Given the description of an element on the screen output the (x, y) to click on. 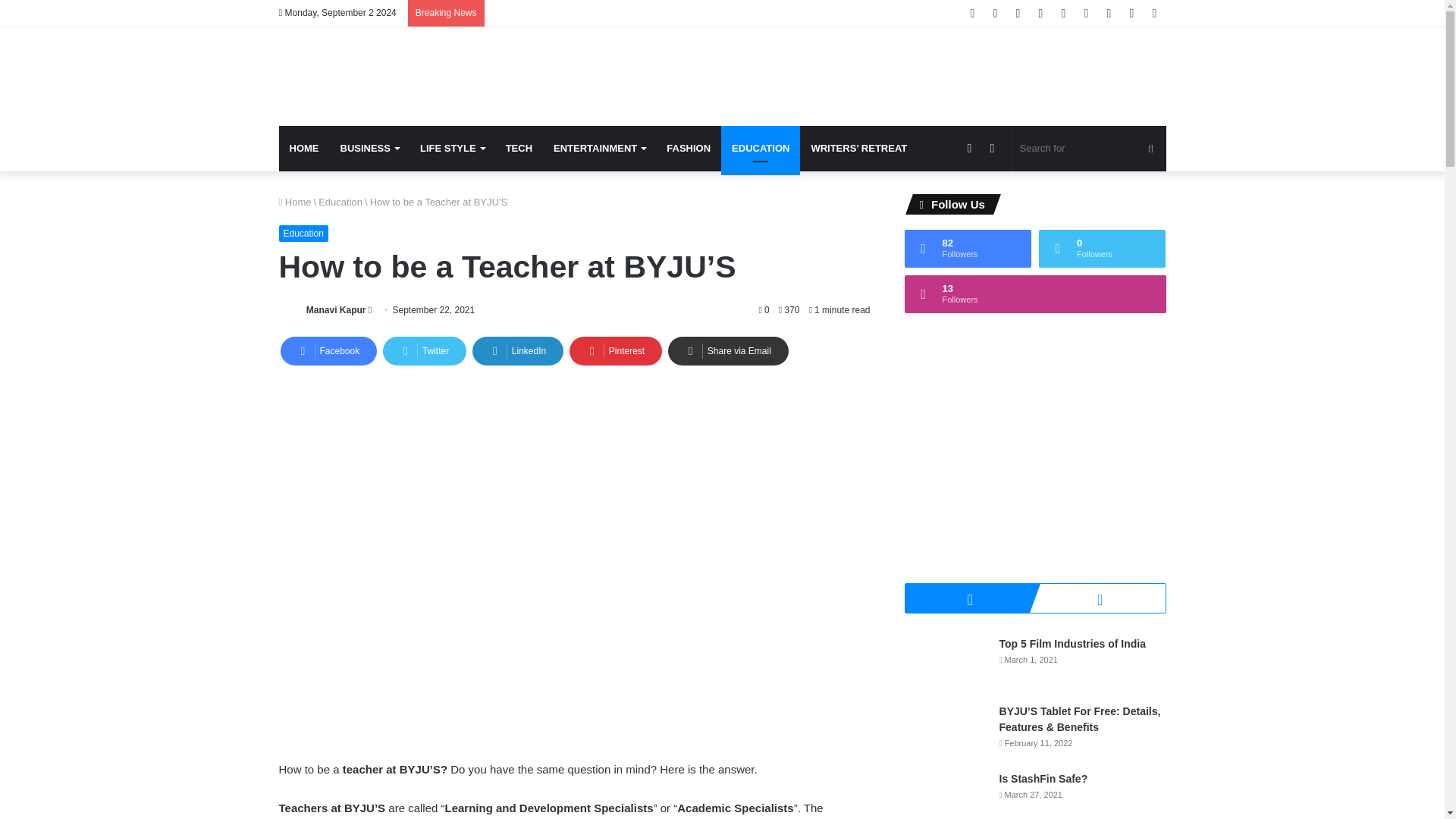
TECH (519, 148)
Pinterest (615, 350)
FASHION (688, 148)
ENTERTAINMENT (599, 148)
EDUCATION (759, 148)
Search for (1088, 148)
LinkedIn (517, 350)
Twitter (423, 350)
Share via Email (728, 350)
Facebook (329, 350)
